Given the description of an element on the screen output the (x, y) to click on. 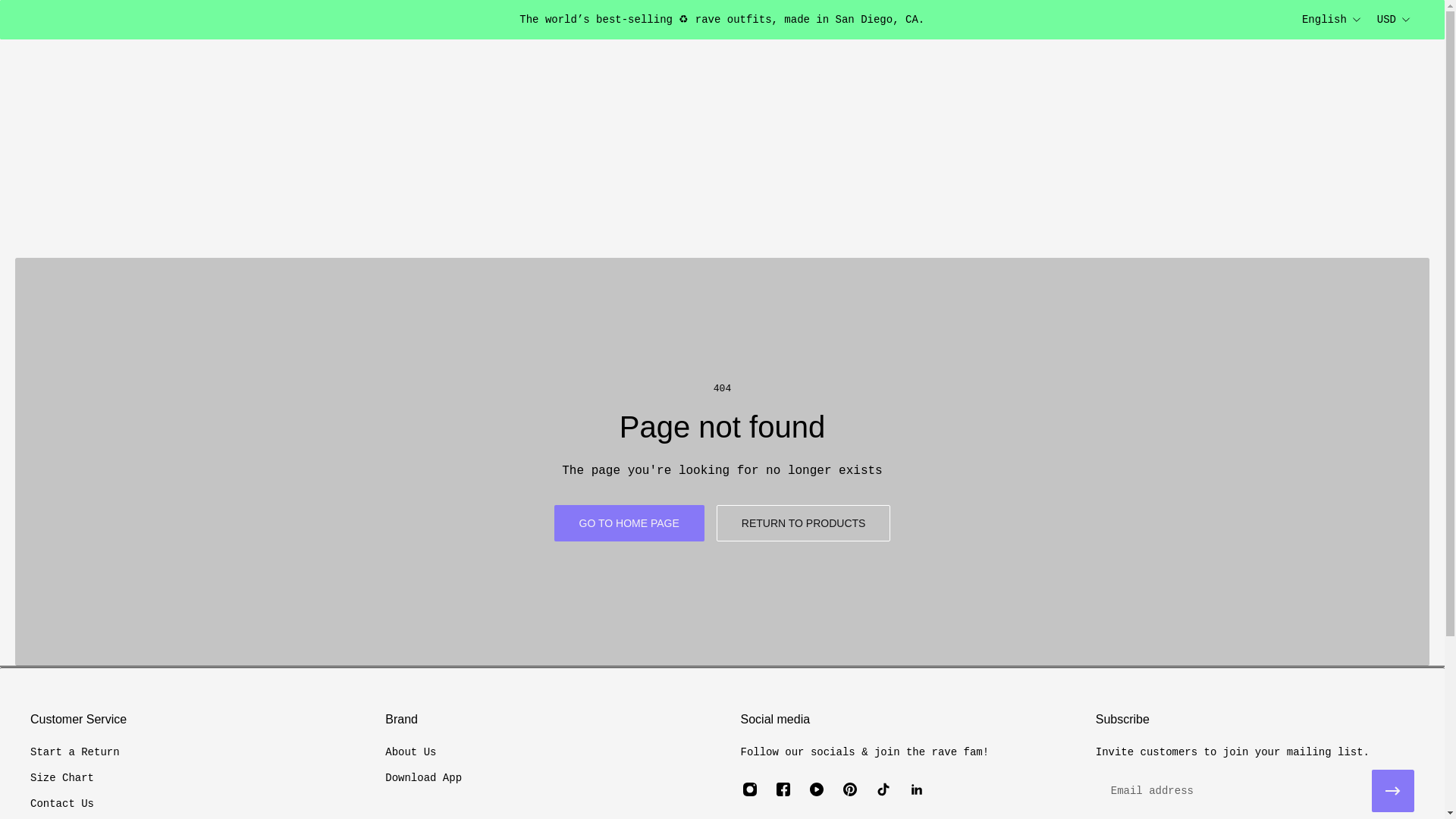
About Us (423, 751)
Contact Us (74, 803)
SKIP TO CONTENT (24, 21)
Start a Return (74, 751)
GO TO HOME PAGE (629, 523)
Size Chart (74, 777)
Download App (423, 777)
RETURN TO PRODUCTS (803, 523)
